Given the description of an element on the screen output the (x, y) to click on. 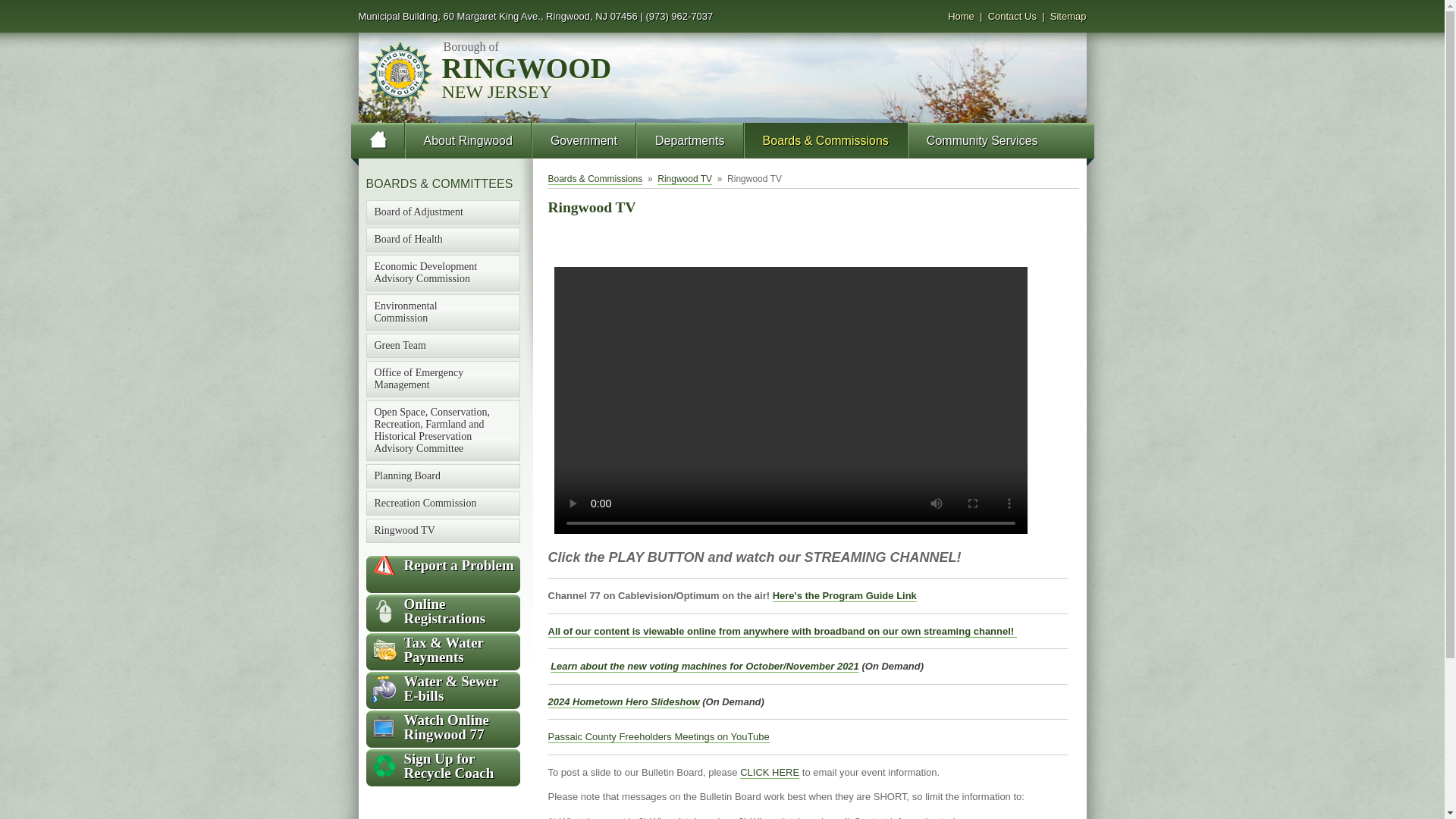
Community Services (982, 140)
Here's the Program Guide Link (845, 595)
CLICK HERE (769, 772)
Report a Problem (442, 565)
Home (960, 16)
Sitemap (1067, 16)
Departments (689, 140)
Watch Online Ringwood 77 (442, 726)
Sign Up for Recycle Coach (442, 765)
Ringwood TV (684, 179)
2024 Hometown Hero Slideshow (622, 702)
Passaic County Freeholders Meetings on YouTube (657, 736)
Contact Us (1012, 16)
Online Registrations (442, 611)
